Given the description of an element on the screen output the (x, y) to click on. 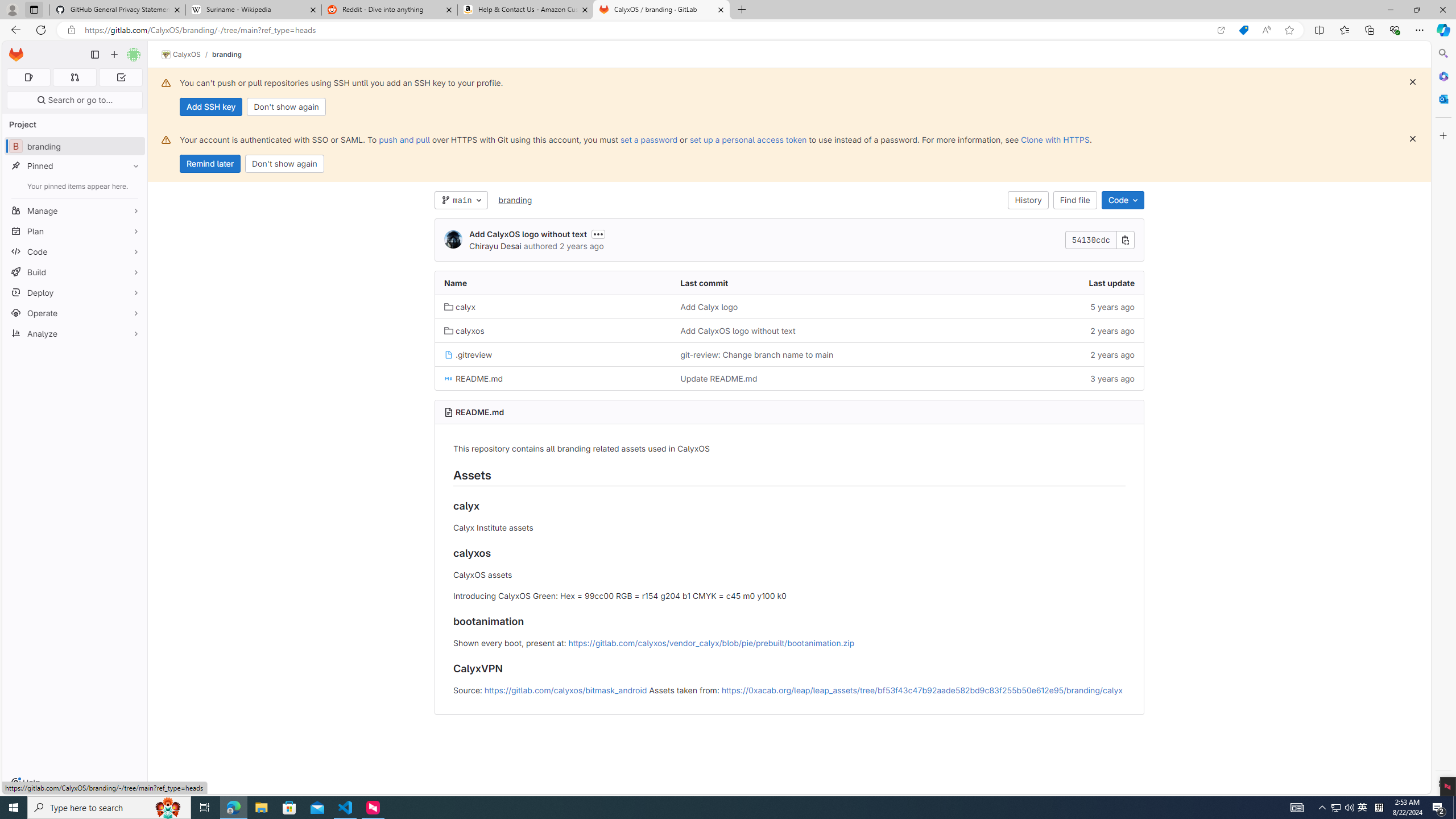
git-review: Change branch name to main (756, 354)
README.md (553, 377)
calyxos (553, 330)
Plan (74, 230)
Chirayu Desai (494, 245)
B branding (74, 145)
set a password (649, 139)
2 years ago (1025, 354)
Operate (74, 312)
main (460, 199)
